Given the description of an element on the screen output the (x, y) to click on. 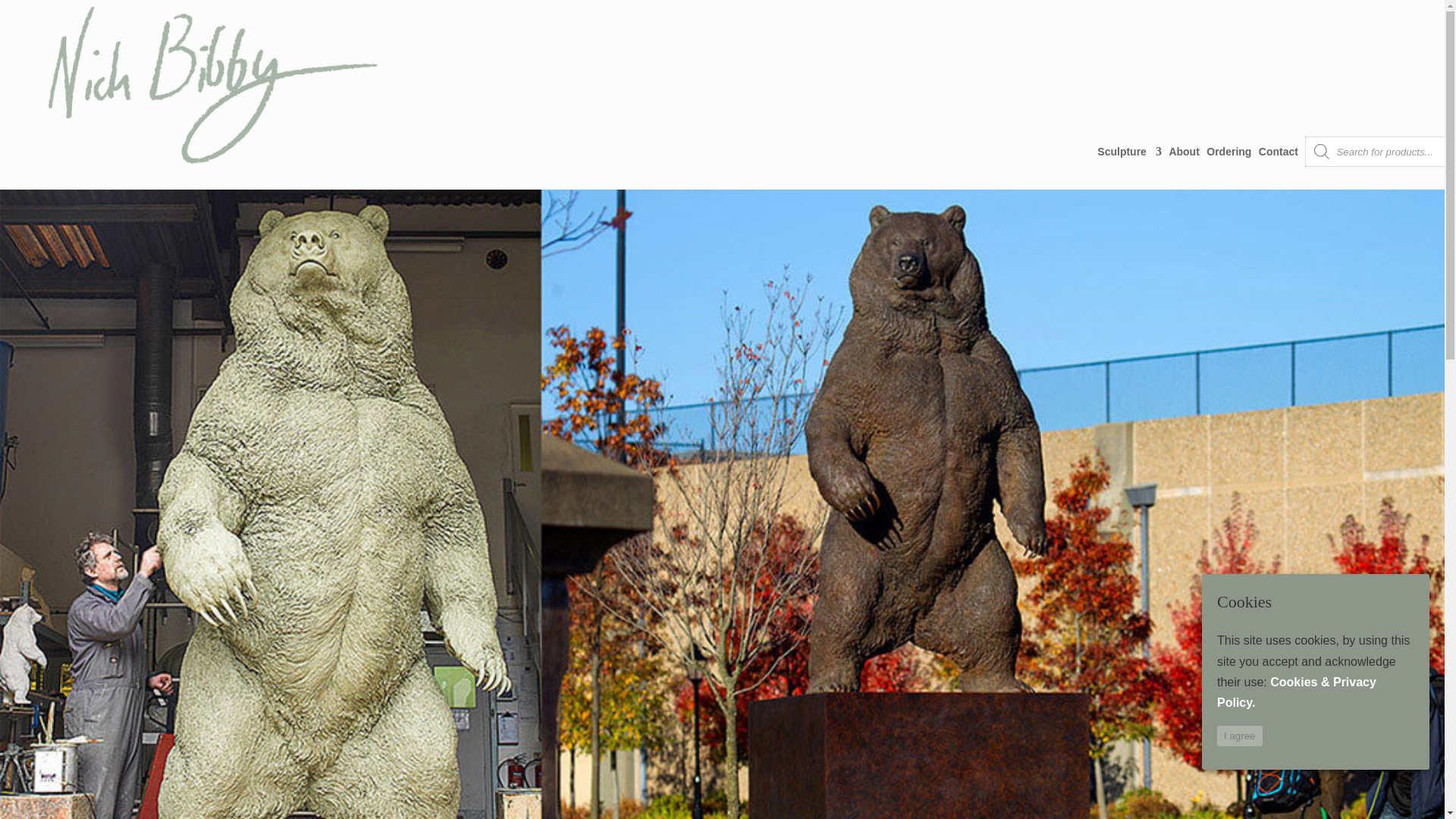
Browse Sculpture Categories (1129, 150)
About (1183, 150)
Sculpture (1129, 150)
Get In Touch (1278, 150)
Contact (1278, 150)
Ordering a Sculpture (1228, 150)
Ordering (1228, 150)
